Given the description of an element on the screen output the (x, y) to click on. 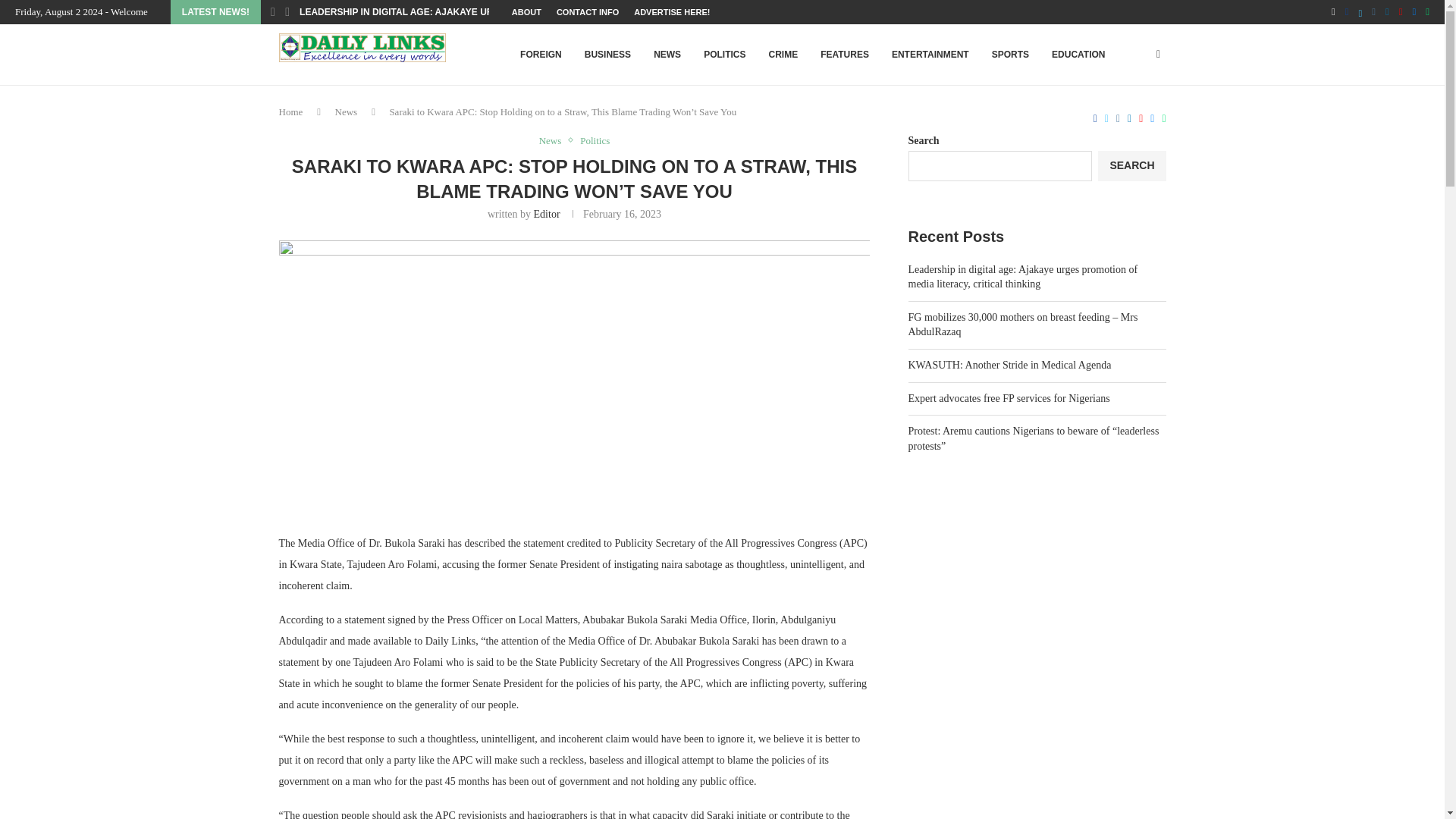
FEATURES (844, 54)
EDUCATION (1078, 54)
BUSINESS (607, 54)
SPORTS (1010, 54)
ENTERTAINMENT (929, 54)
CONTACT INFO (587, 12)
POLITICS (725, 54)
FOREIGN (540, 54)
ABOUT (526, 12)
ADVERTISE HERE! (671, 12)
